Given the description of an element on the screen output the (x, y) to click on. 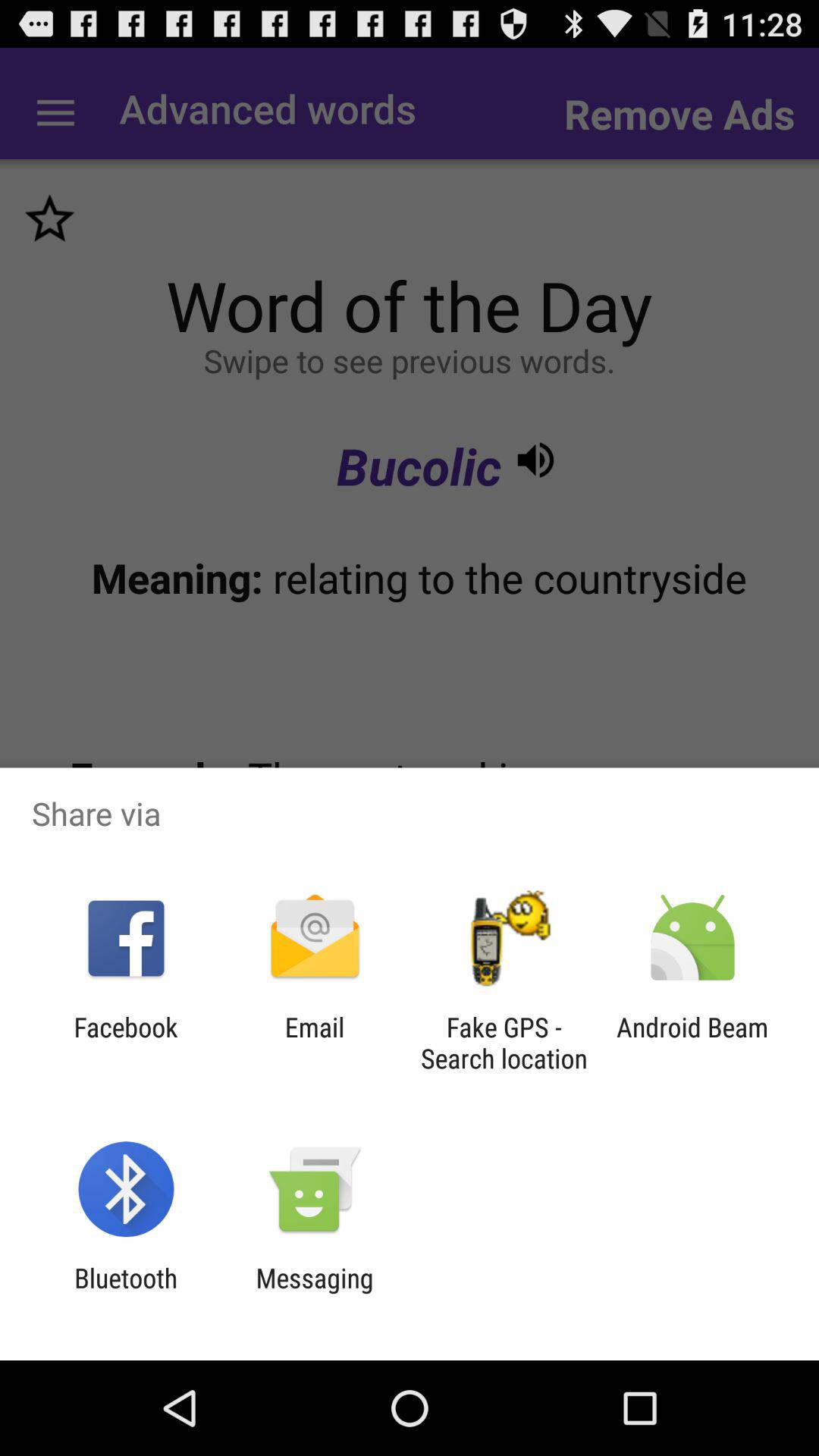
turn on the icon to the left of the android beam (503, 1042)
